Given the description of an element on the screen output the (x, y) to click on. 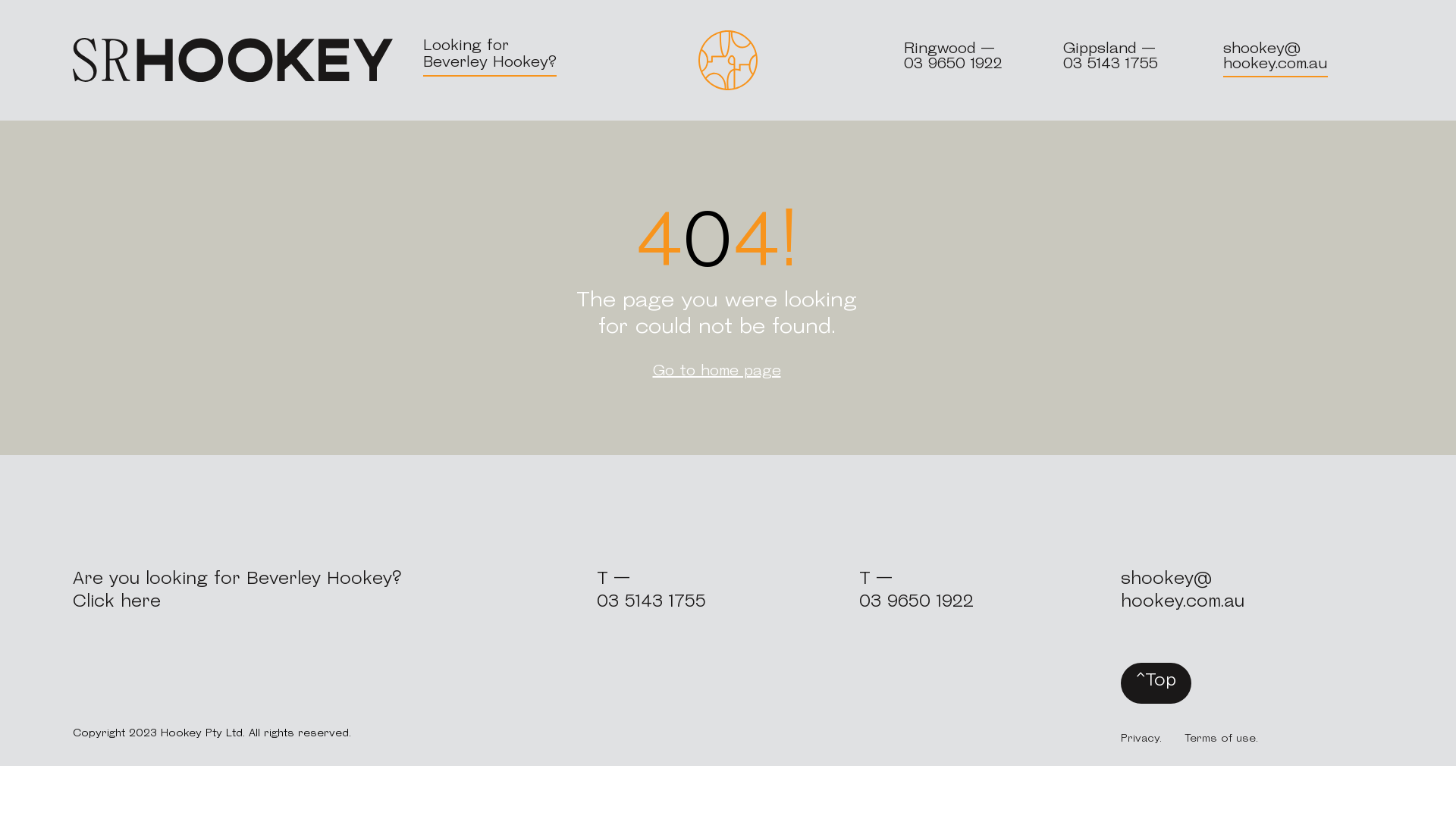
here Element type: text (140, 602)
03 9650 1922 Element type: text (916, 602)
Terms of use. Element type: text (1221, 738)
Privacy. Element type: text (1140, 738)
03 5143 1755 Element type: text (1110, 64)
shookey@
hookey.com.au Element type: text (1182, 591)
03 9650 1922 Element type: text (952, 64)
Go to home page Element type: text (716, 371)
Beverley Hookey? Element type: text (489, 62)
shookey@
hookey.com.au Element type: text (1275, 56)
03 5143 1755 Element type: text (651, 602)
